Given the description of an element on the screen output the (x, y) to click on. 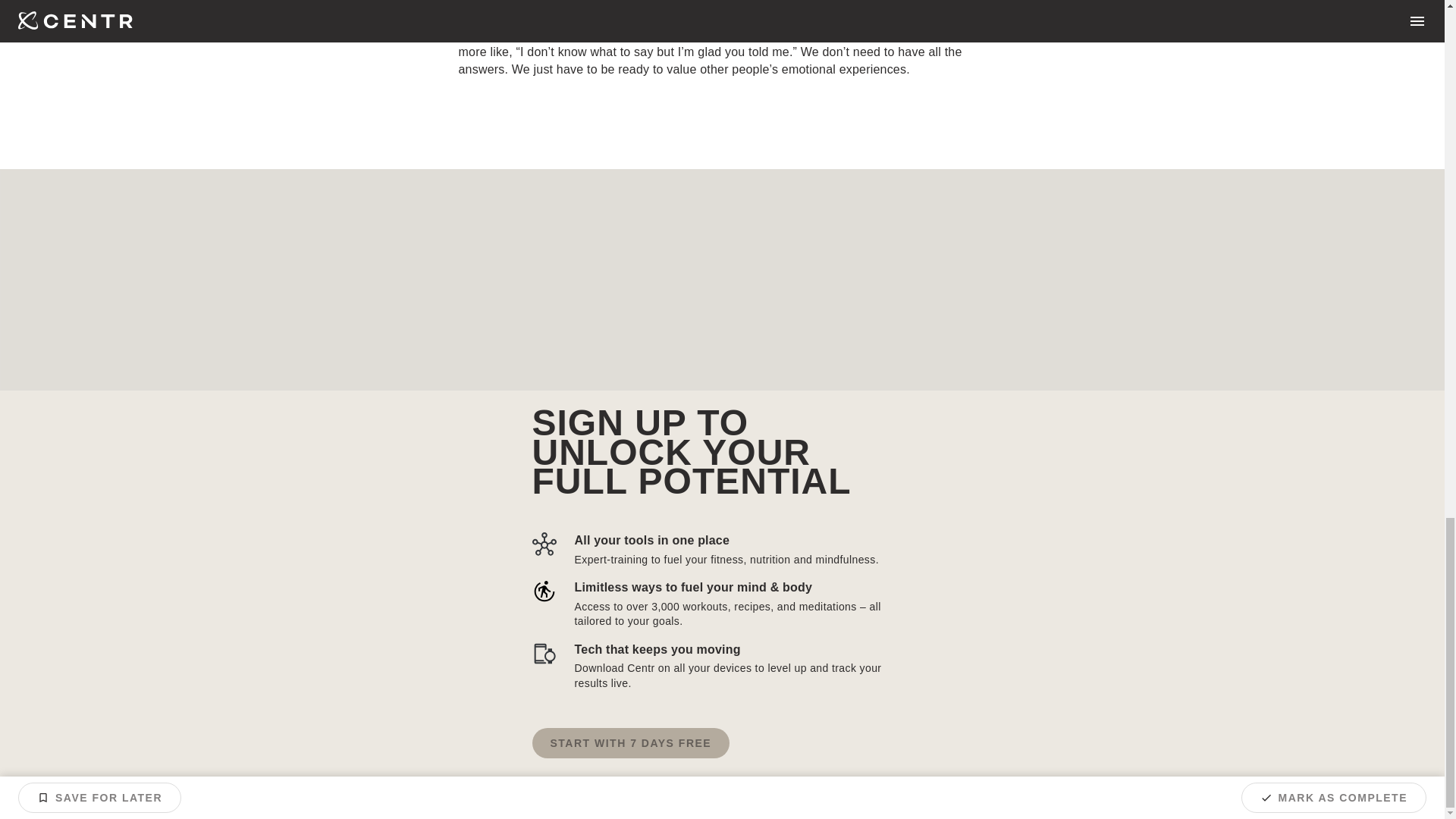
START WITH 7 DAYS FREE (631, 743)
